Given the description of an element on the screen output the (x, y) to click on. 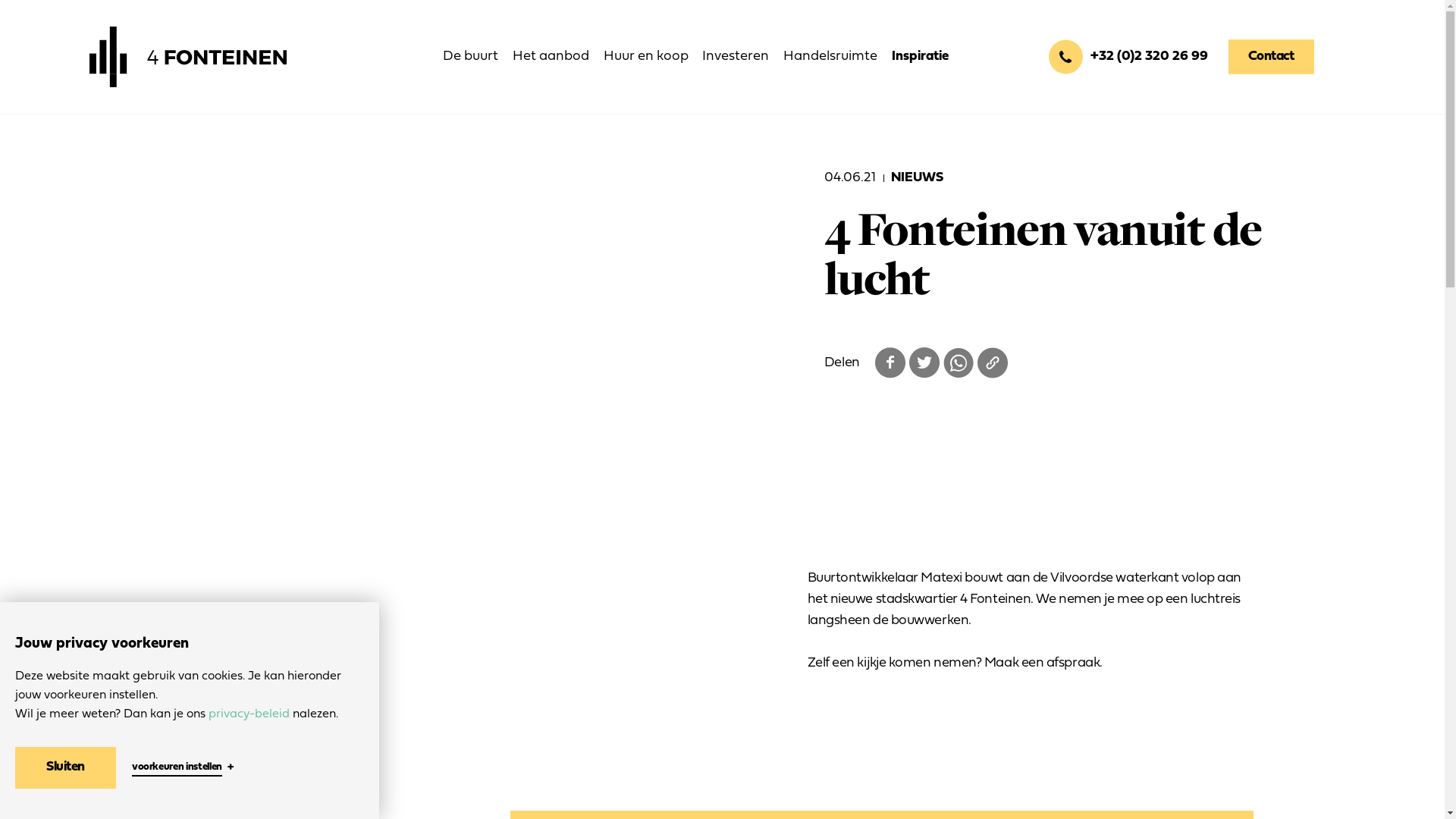
Investeren Element type: text (735, 56)
+32 (0)2 320 26 99 Element type: text (1127, 57)
privacy-beleid Element type: text (248, 714)
Inspiratie Element type: text (919, 56)
Whatsapp Element type: hover (958, 363)
De buurt Element type: text (470, 56)
Het aanbod Element type: text (550, 56)
Sluiten Element type: text (65, 767)
Huur en koop Element type: text (645, 56)
voorkeuren instellen Element type: text (176, 767)
Contact Element type: text (1271, 57)
Handelsruimte Element type: text (830, 56)
